Given the description of an element on the screen output the (x, y) to click on. 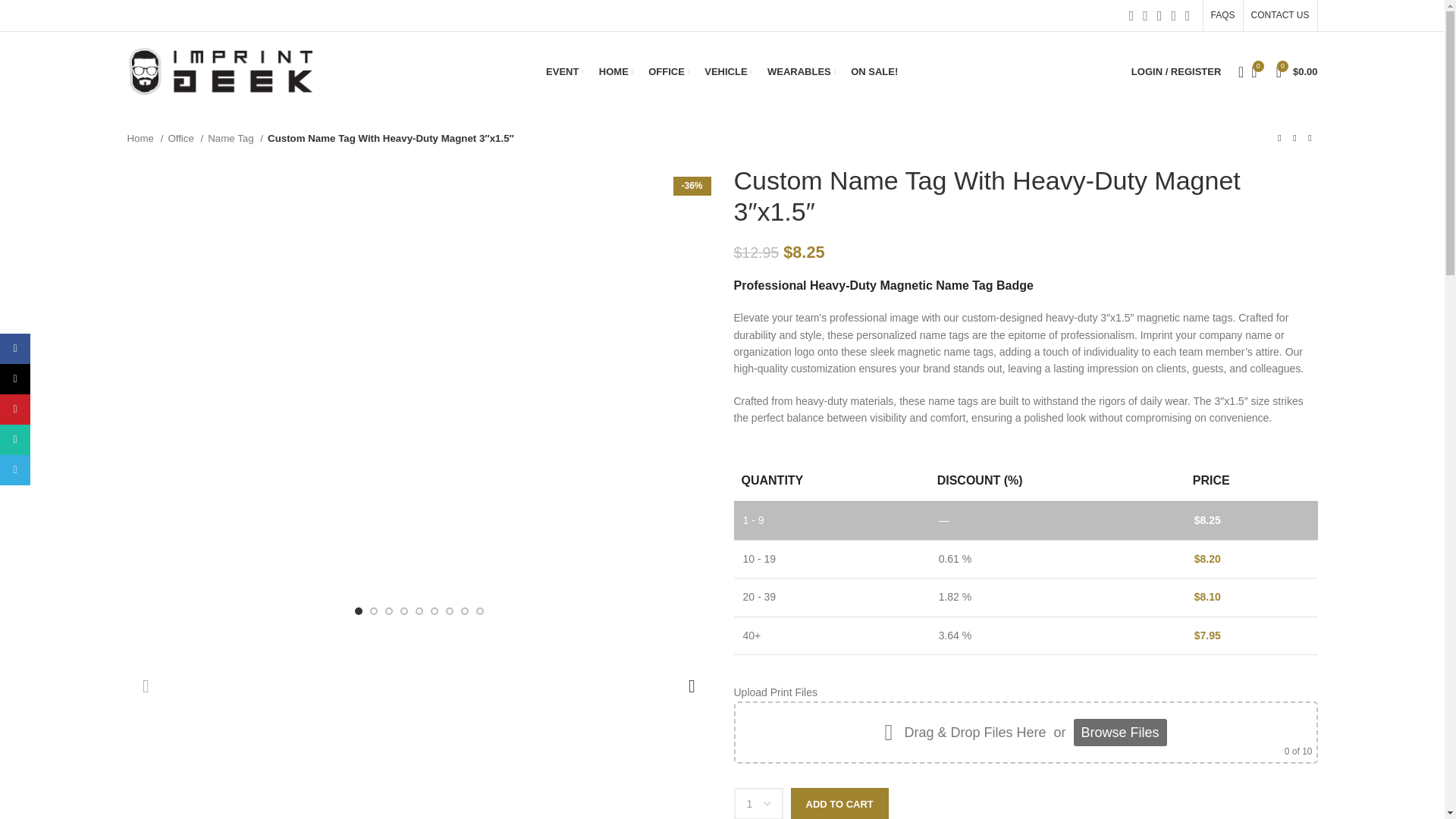
OFFICE (667, 71)
VEHICLE (728, 71)
EVENT (564, 71)
HOME (615, 71)
My account (1176, 71)
WEARABLES (801, 71)
Shopping cart (1296, 71)
CONTACT US (1279, 15)
Qty (758, 803)
